Given the description of an element on the screen output the (x, y) to click on. 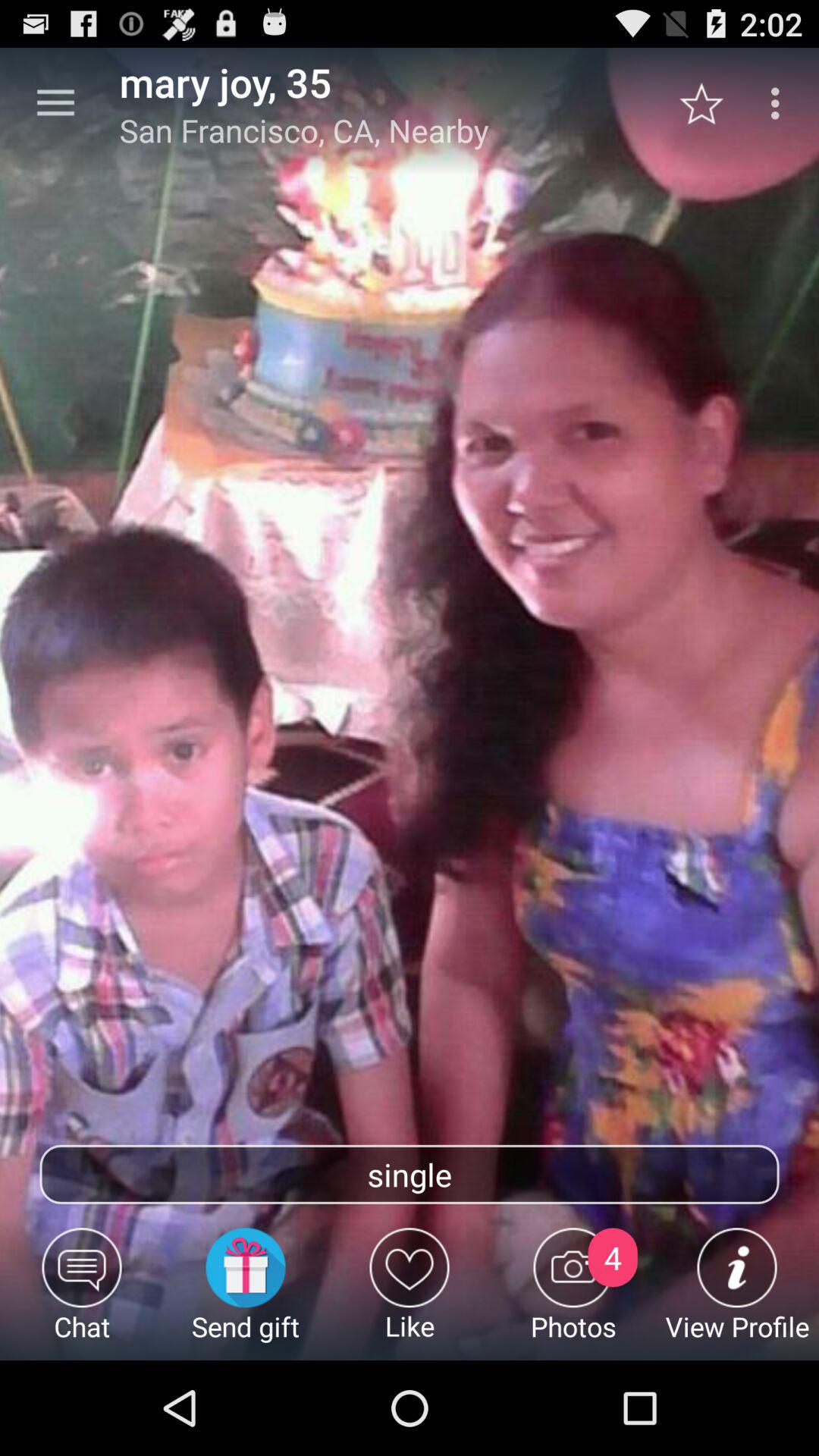
click icon next to chat item (245, 1293)
